Given the description of an element on the screen output the (x, y) to click on. 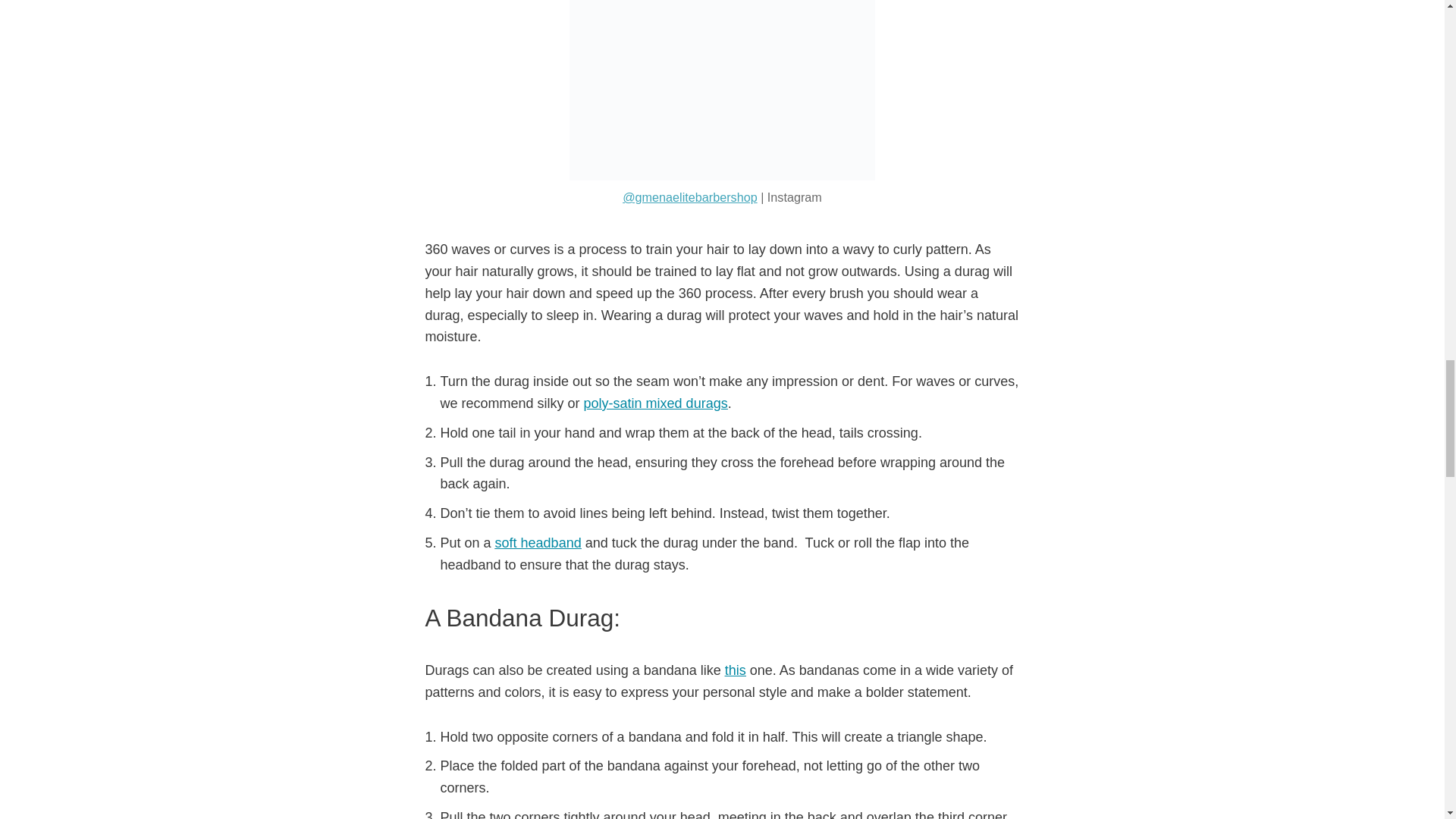
poly-satin mixed durags (655, 403)
this (735, 670)
soft headband (537, 542)
